Given the description of an element on the screen output the (x, y) to click on. 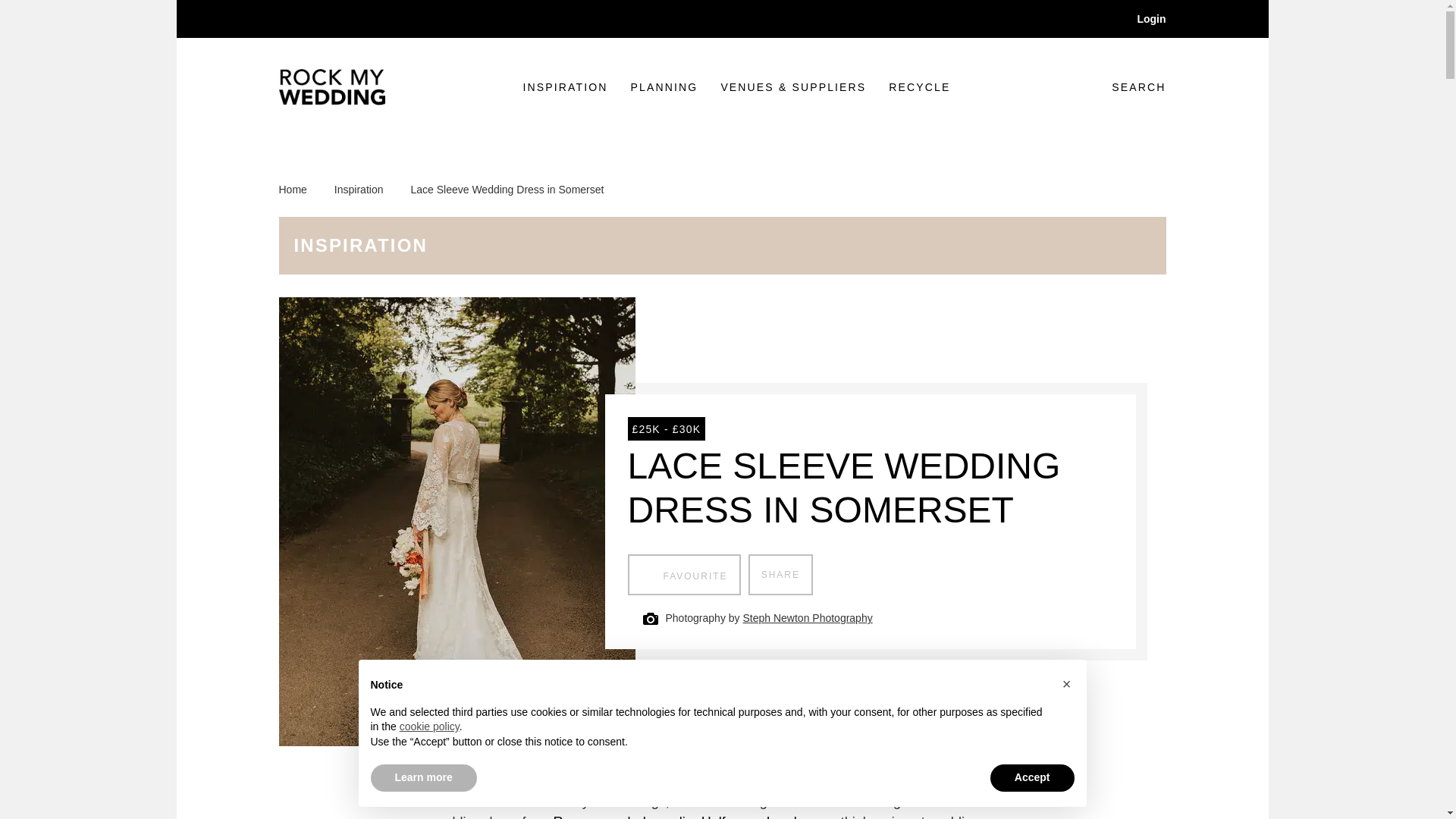
Lace Sleeve Wedding Dress in Somerset (1126, 86)
INSPIRATION (507, 189)
Login (565, 87)
Recommended supplier Halfpenny London (1140, 18)
SHARE (682, 816)
PLANNING (780, 574)
Home (664, 87)
FAVOURITE (301, 189)
RECYCLE (684, 574)
Steph Newton Photography (919, 87)
Inspiration (807, 618)
